Given the description of an element on the screen output the (x, y) to click on. 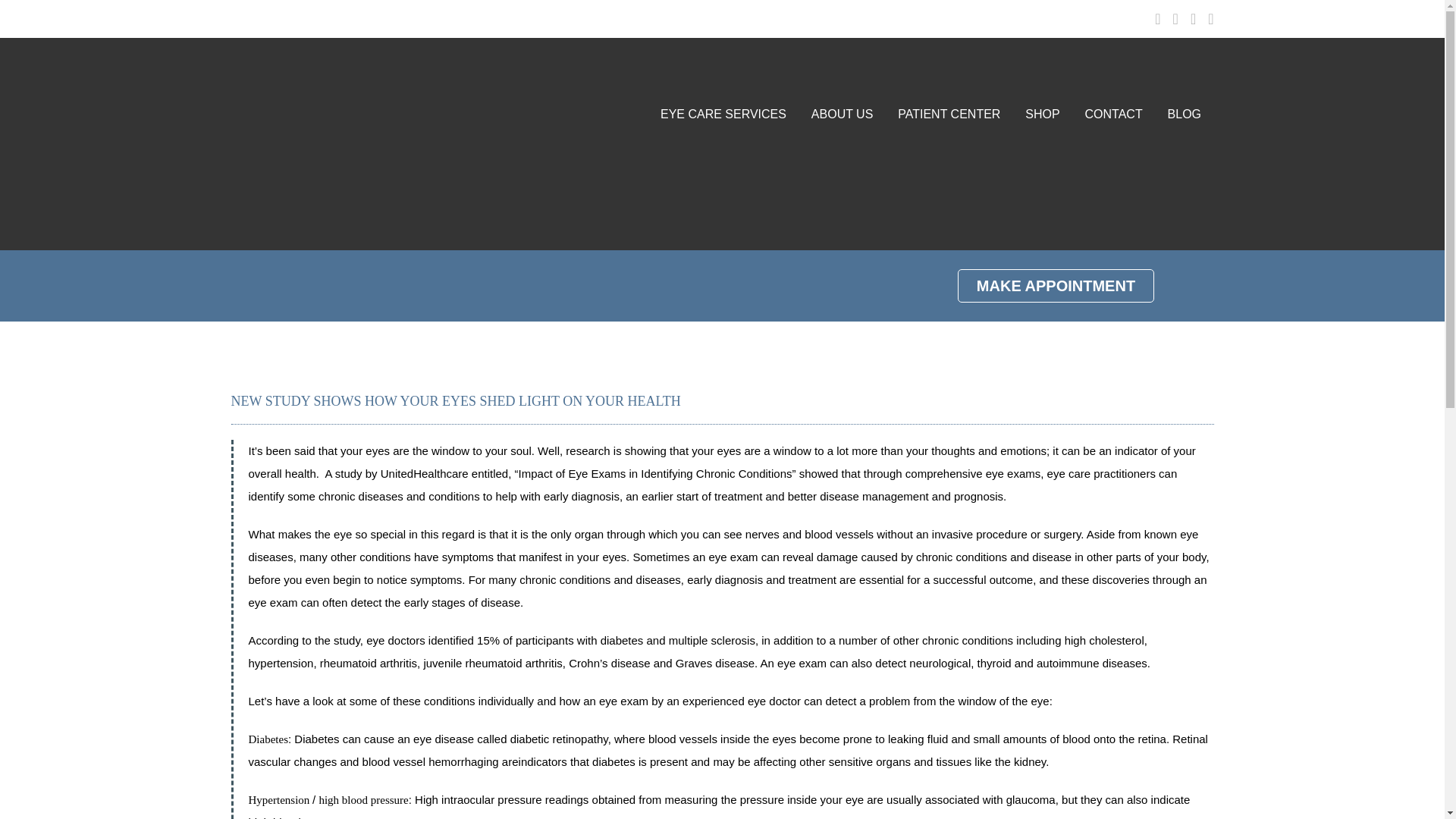
BLOG (1183, 114)
ABOUT US (841, 114)
PATIENT CENTER (949, 114)
SHOP (1042, 114)
EYE CARE SERVICES (722, 114)
CONTACT (1112, 114)
MAKE APPOINTMENT (1056, 285)
